Given the description of an element on the screen output the (x, y) to click on. 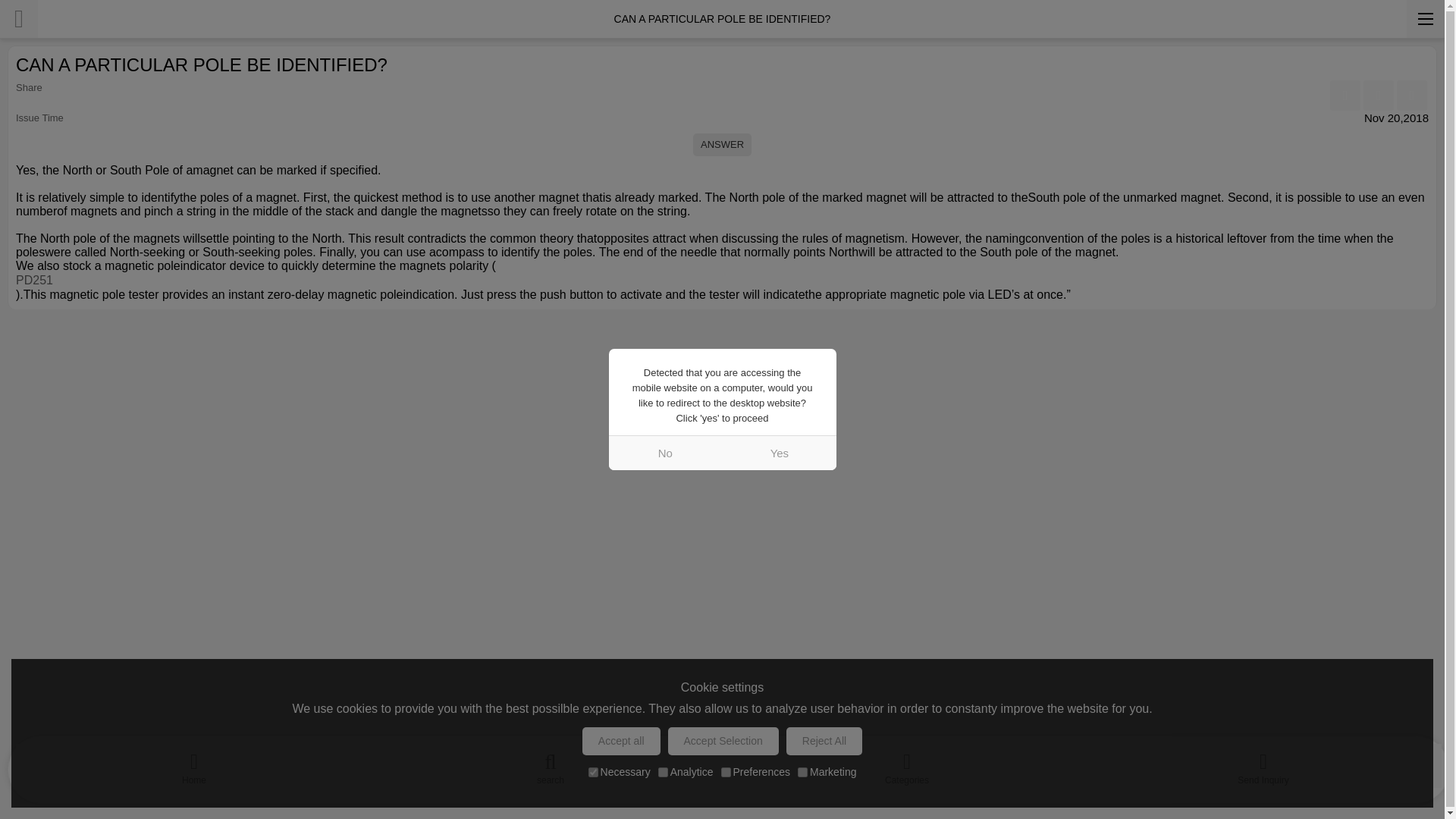
Share Twitter (1411, 95)
on (663, 772)
Share Facebook (1344, 95)
on (802, 772)
on (725, 772)
Return (18, 18)
Accept Selection (723, 741)
Yes (778, 452)
No (665, 452)
